Given the description of an element on the screen output the (x, y) to click on. 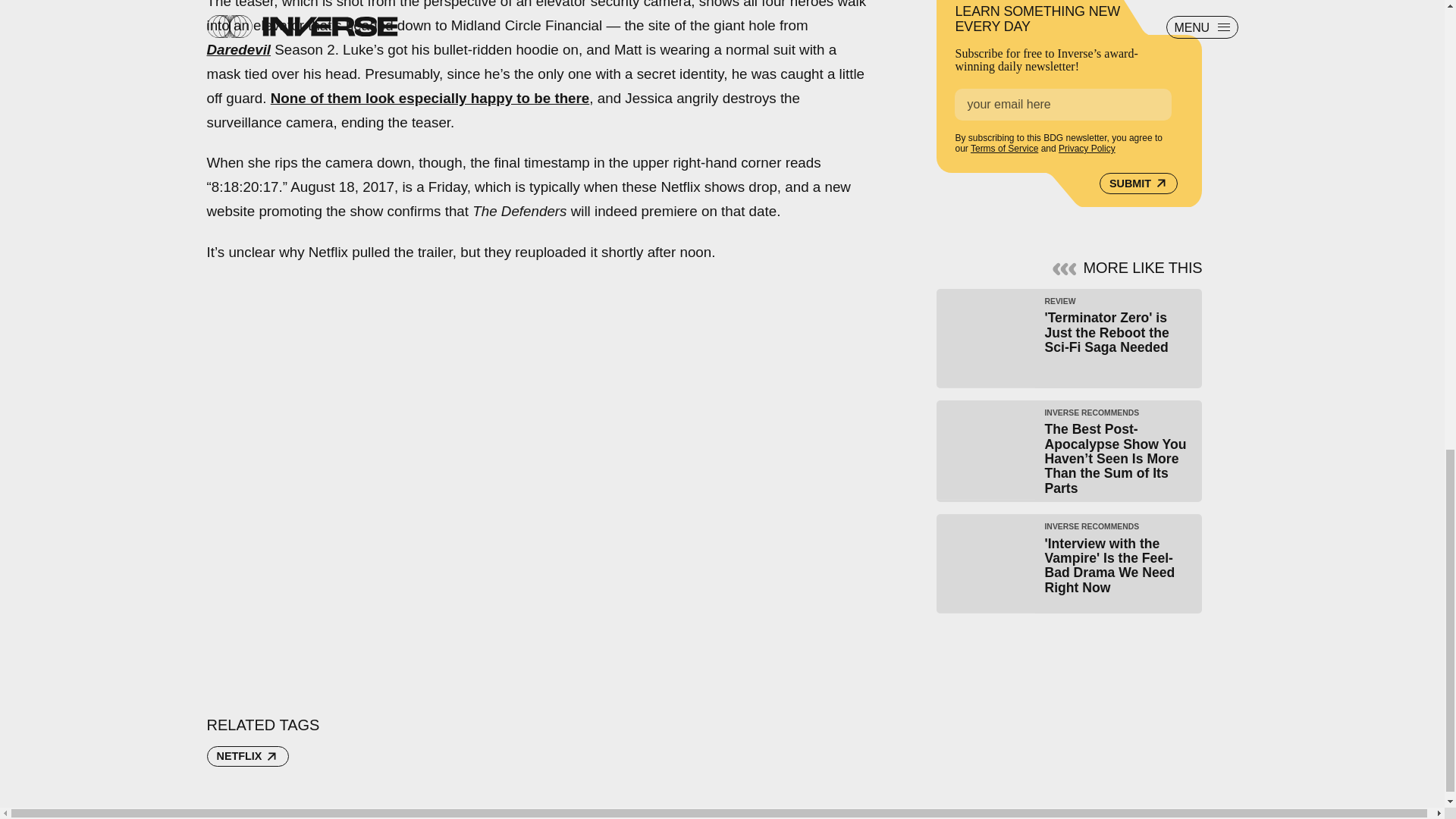
None of them look especially happy to be there (429, 98)
Privacy Policy (1086, 148)
Daredevil (238, 49)
NETFLIX (247, 756)
SUBMIT (1138, 183)
Terms of Service (1004, 148)
